Given the description of an element on the screen output the (x, y) to click on. 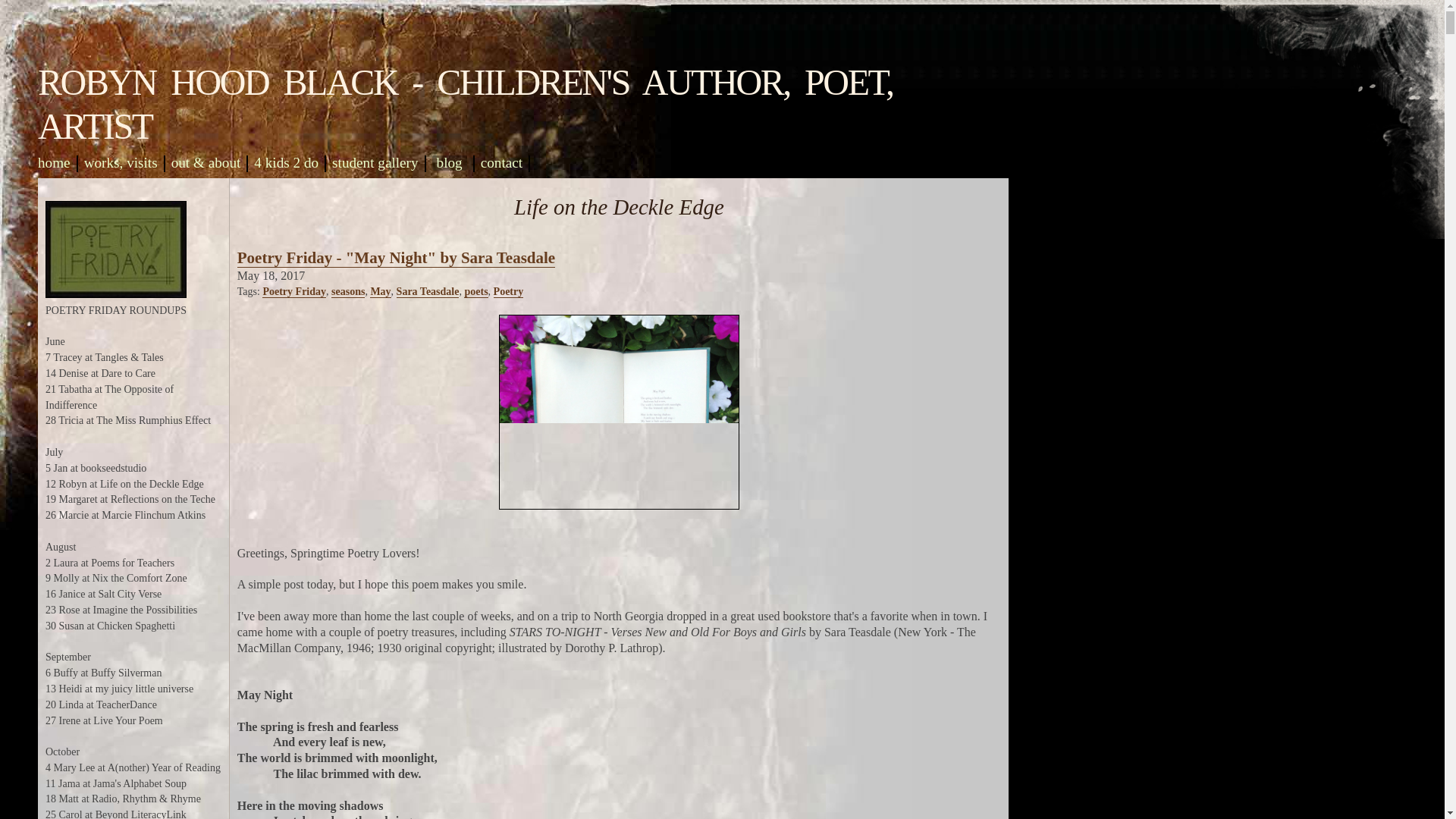
home (53, 162)
student gallery (375, 162)
contact (501, 162)
blog (449, 162)
4 kids 2 do (285, 162)
works, visits (120, 162)
